Given the description of an element on the screen output the (x, y) to click on. 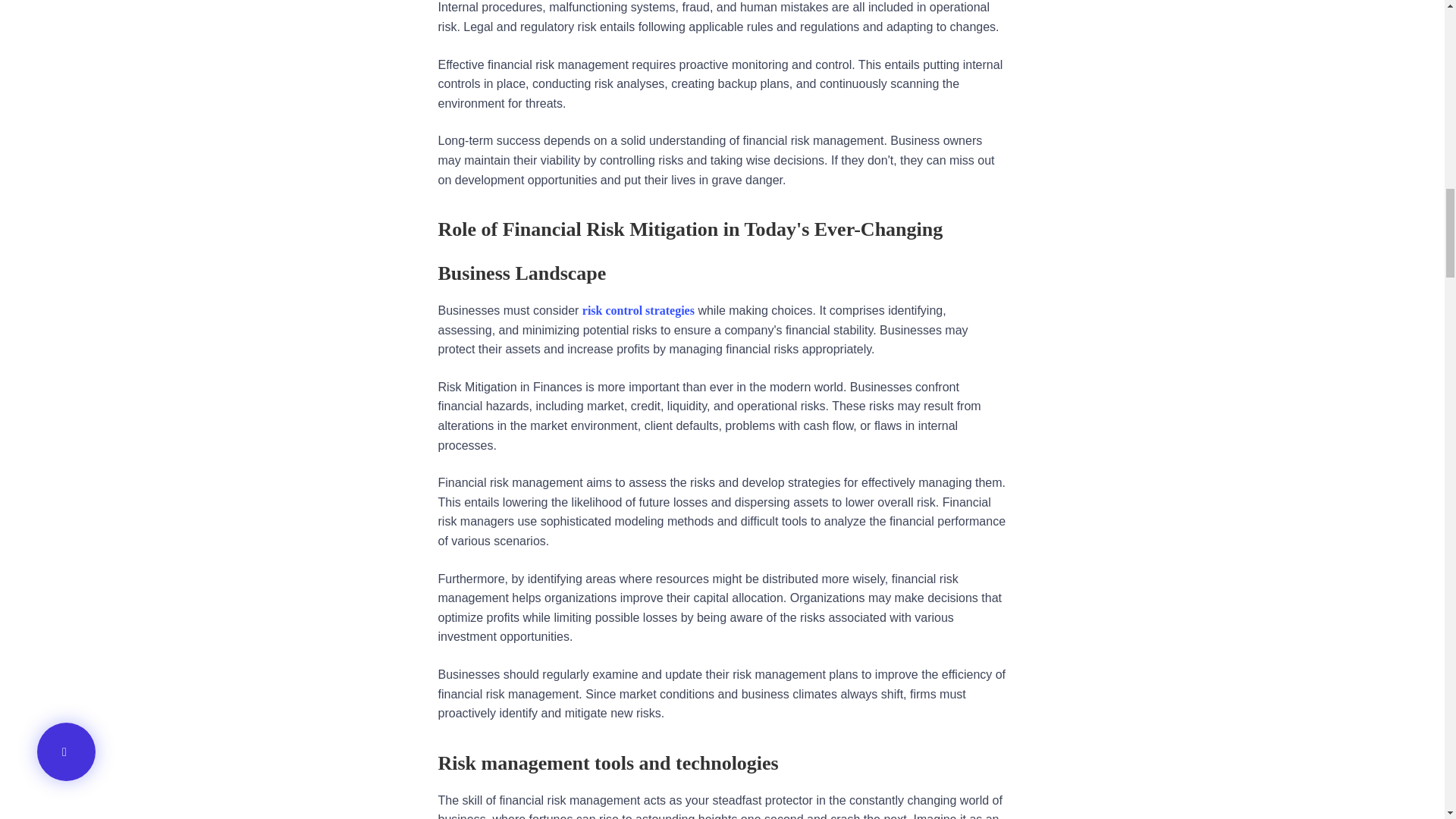
risk control strategies (638, 309)
